Given the description of an element on the screen output the (x, y) to click on. 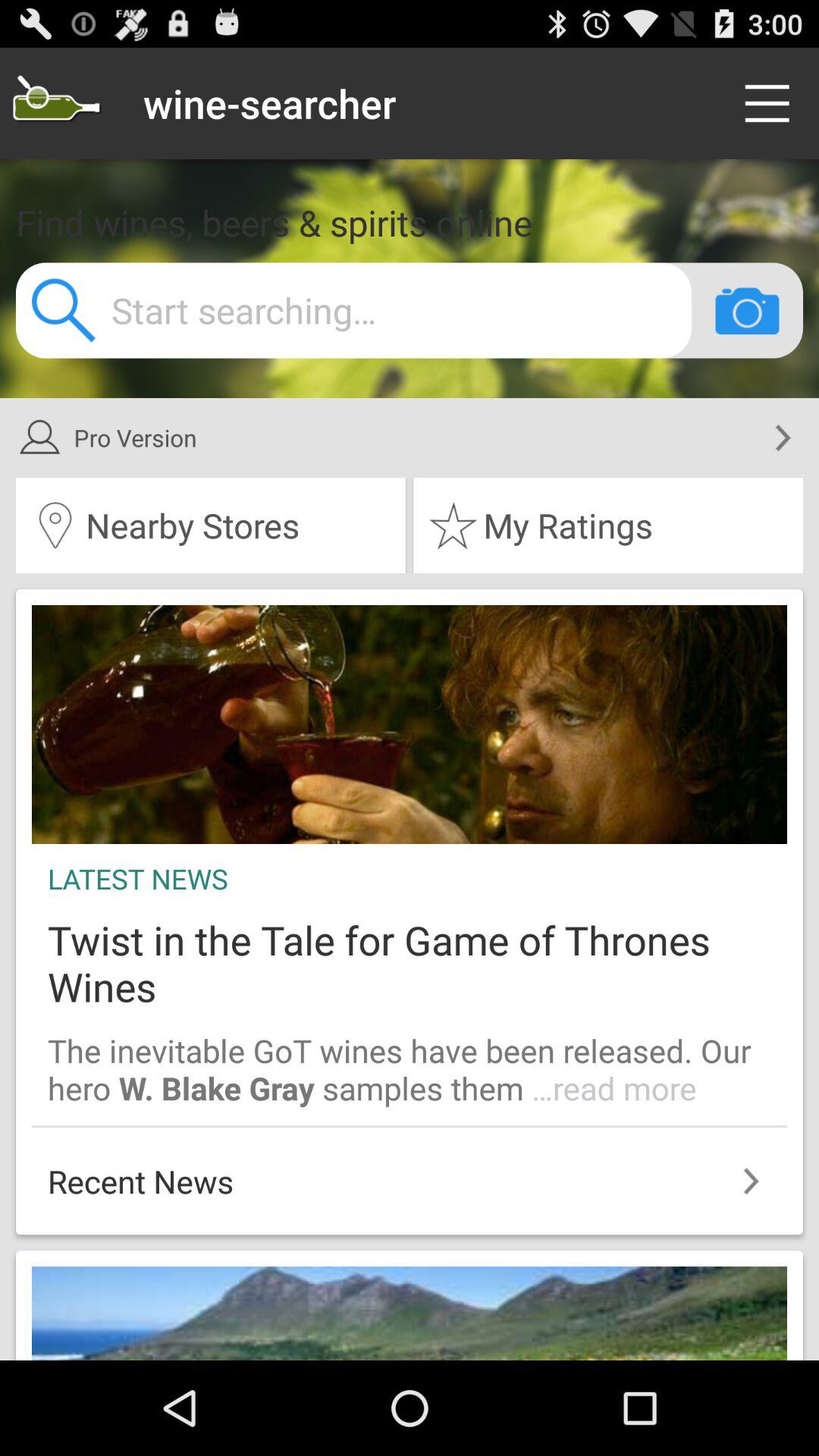
choose the icon next to my ratings item (210, 525)
